Given the description of an element on the screen output the (x, y) to click on. 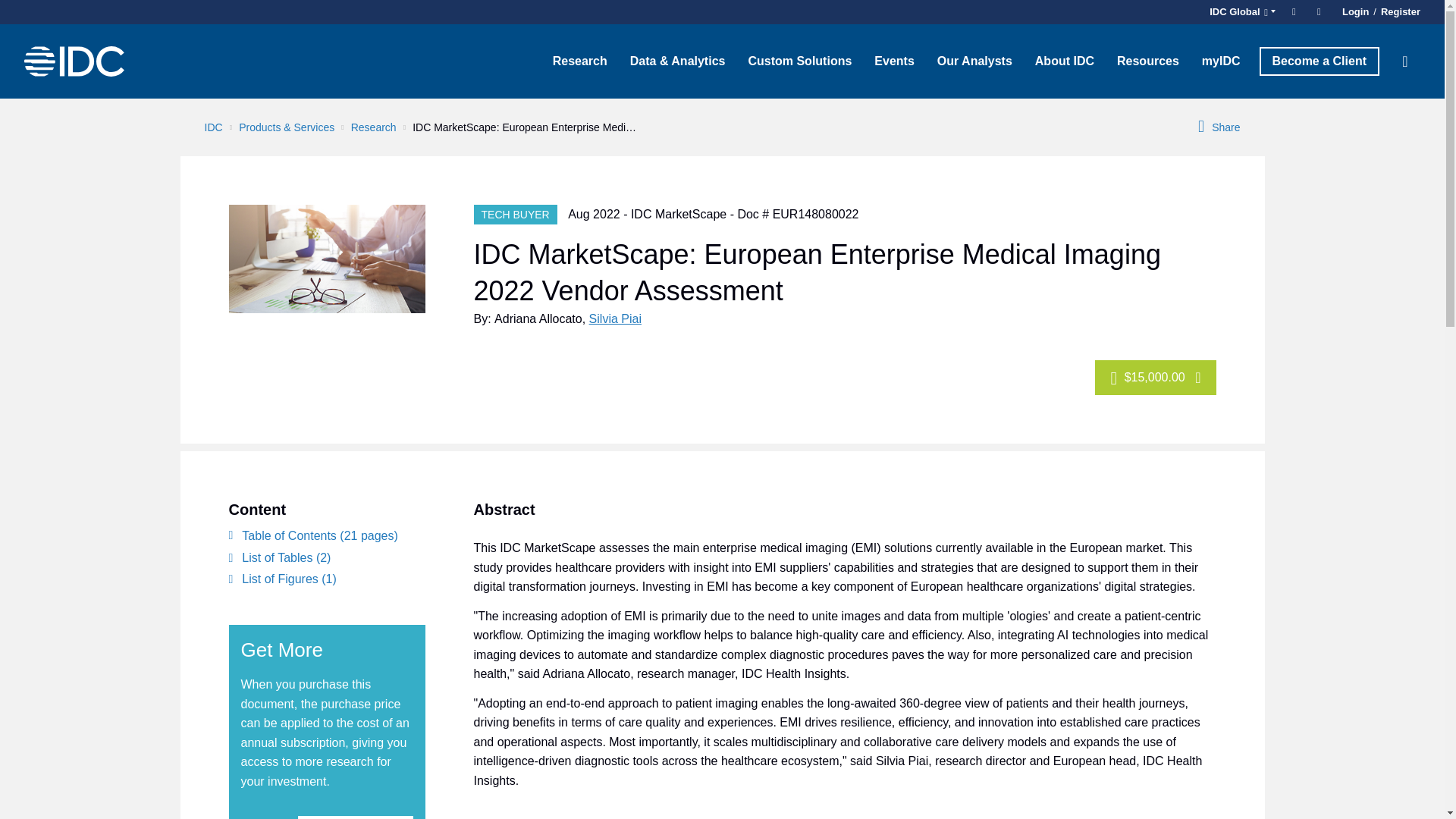
Register (1398, 12)
Our Analysts (974, 60)
Search (1405, 61)
Custom Solutions (799, 60)
Events (893, 60)
Become a Client (1318, 60)
Login (1355, 12)
myIDC (1221, 60)
IDC Global (1240, 12)
Resources (1148, 60)
